Given the description of an element on the screen output the (x, y) to click on. 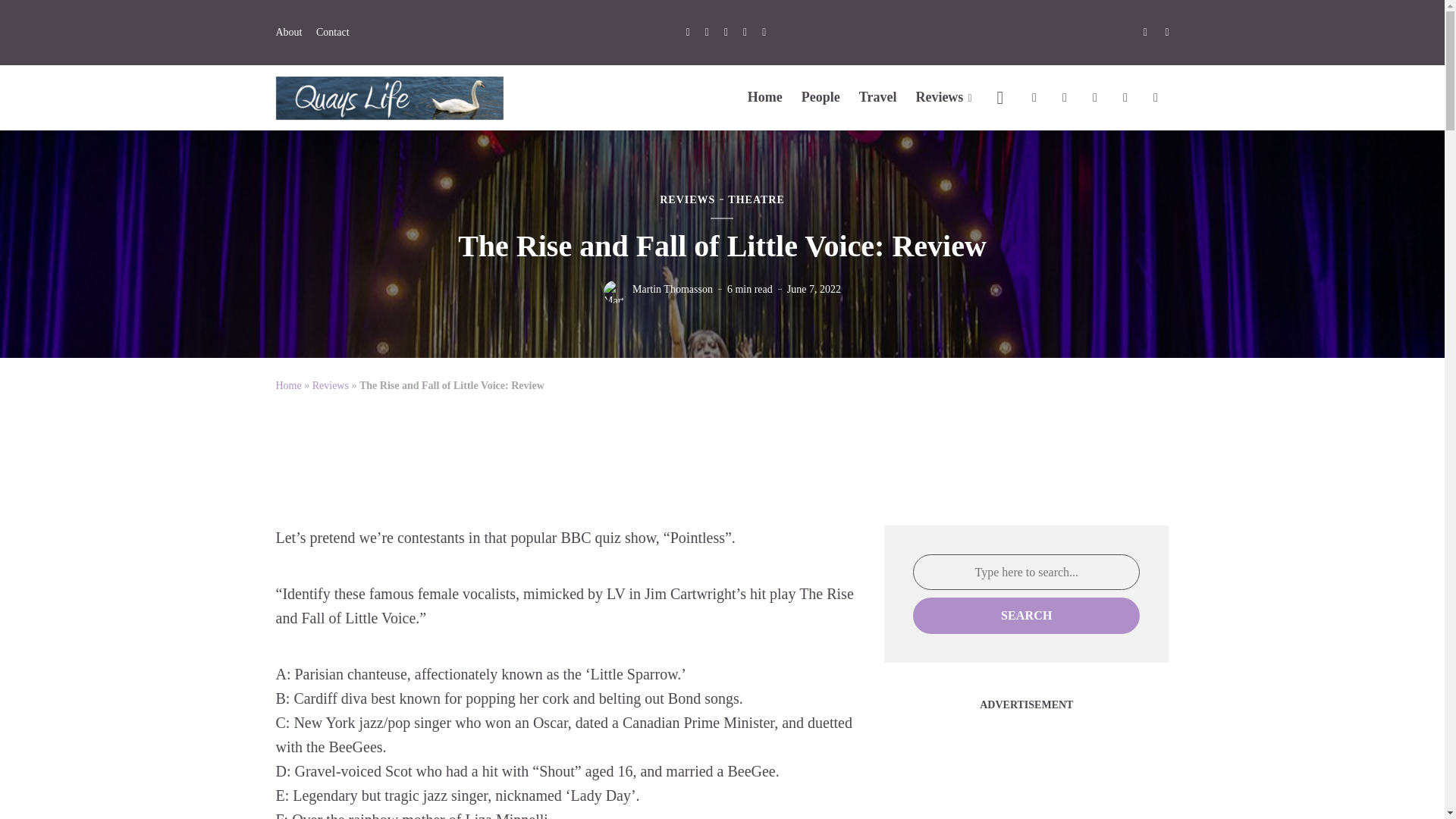
People (821, 96)
Reviews (943, 96)
Travel (877, 96)
Home (765, 96)
